Given the description of an element on the screen output the (x, y) to click on. 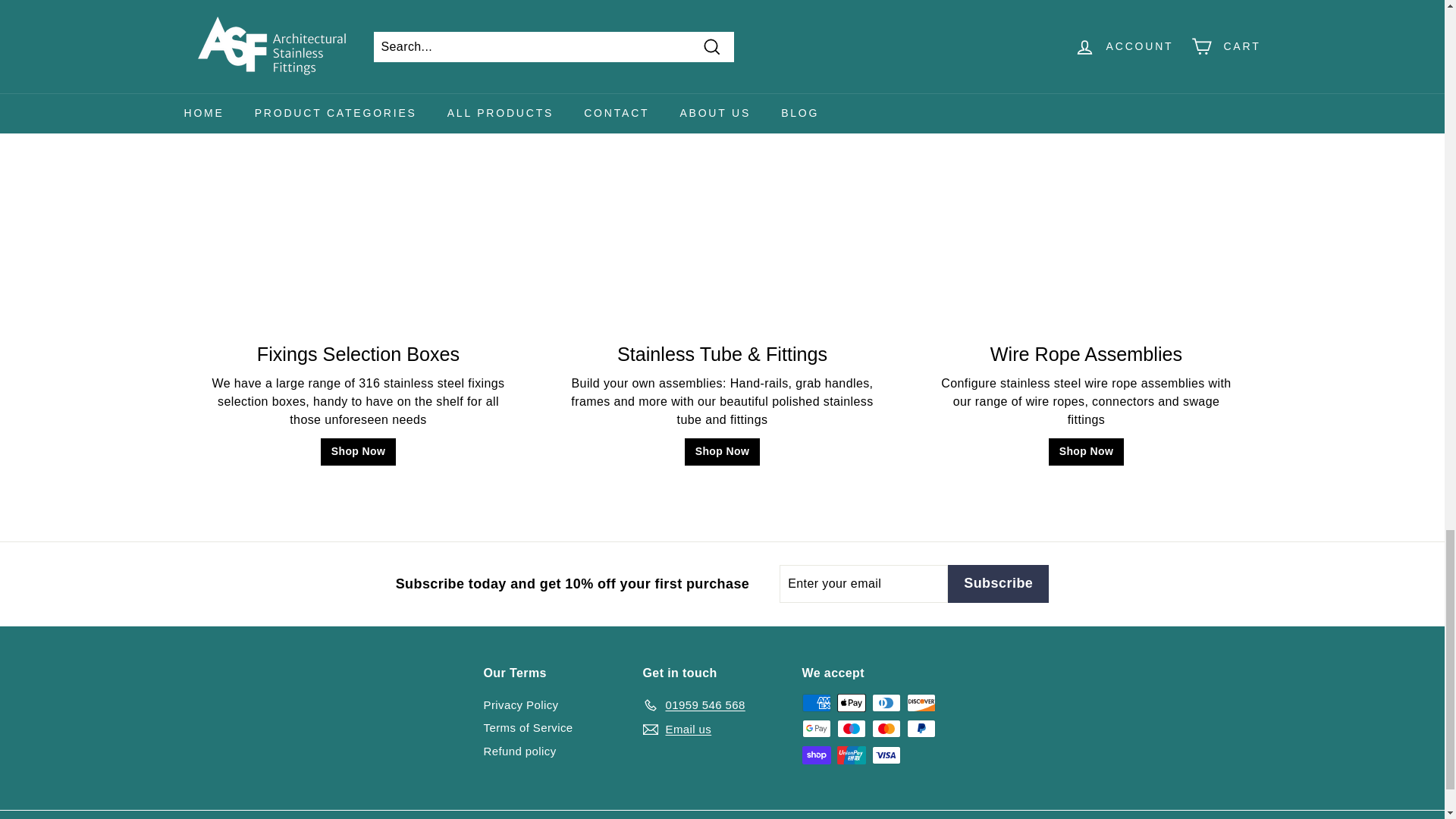
Diners Club (886, 702)
American Express (816, 702)
Apple Pay (851, 702)
Union Pay (851, 755)
Shop Pay (816, 755)
Google Pay (816, 728)
Discover (921, 702)
Mastercard (886, 728)
Maestro (851, 728)
Visa (886, 755)
PayPal (921, 728)
